Given the description of an element on the screen output the (x, y) to click on. 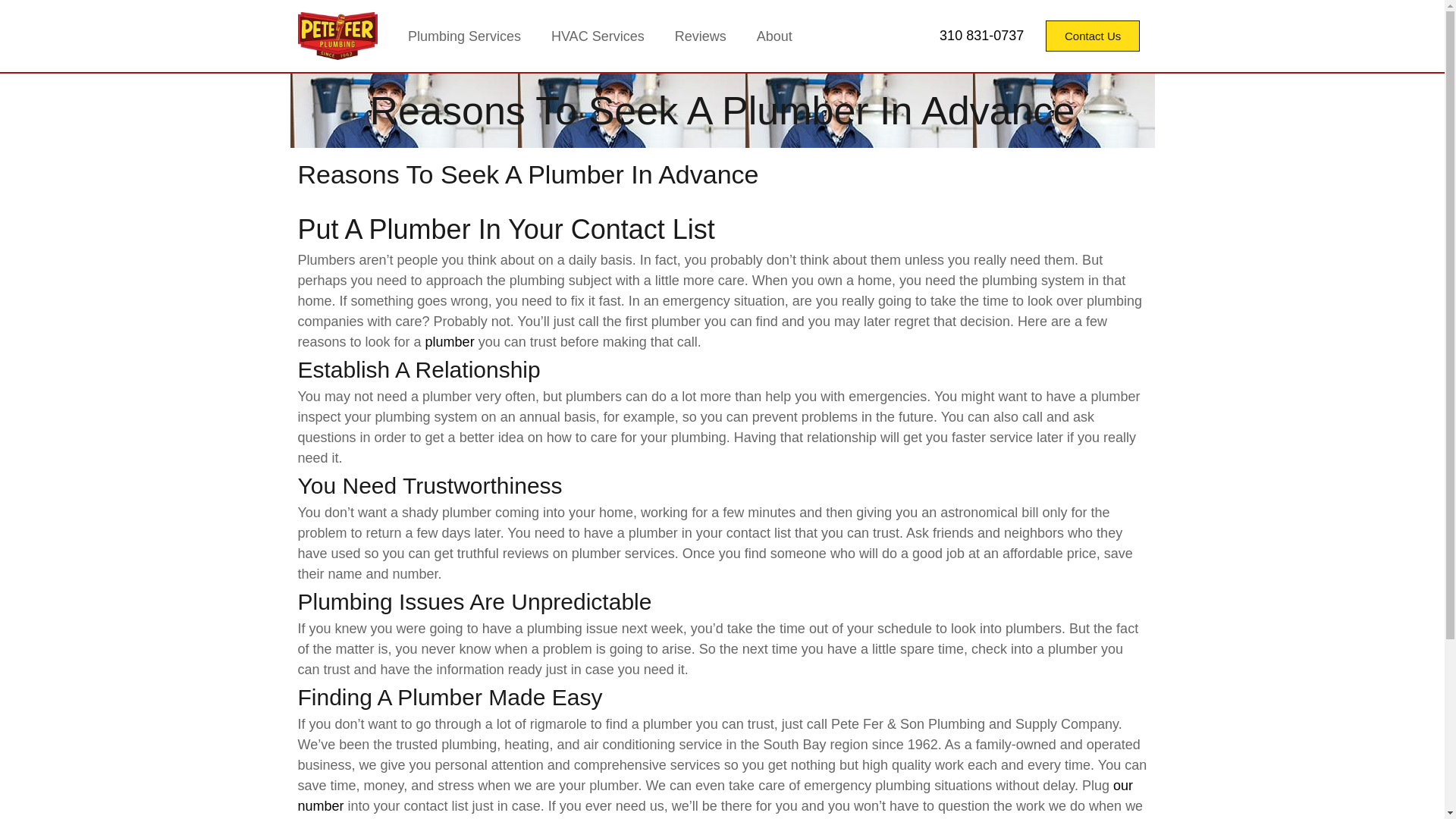
Reviews (700, 35)
Plumbing Services (464, 35)
HVAC Services (597, 35)
About (774, 35)
